Given the description of an element on the screen output the (x, y) to click on. 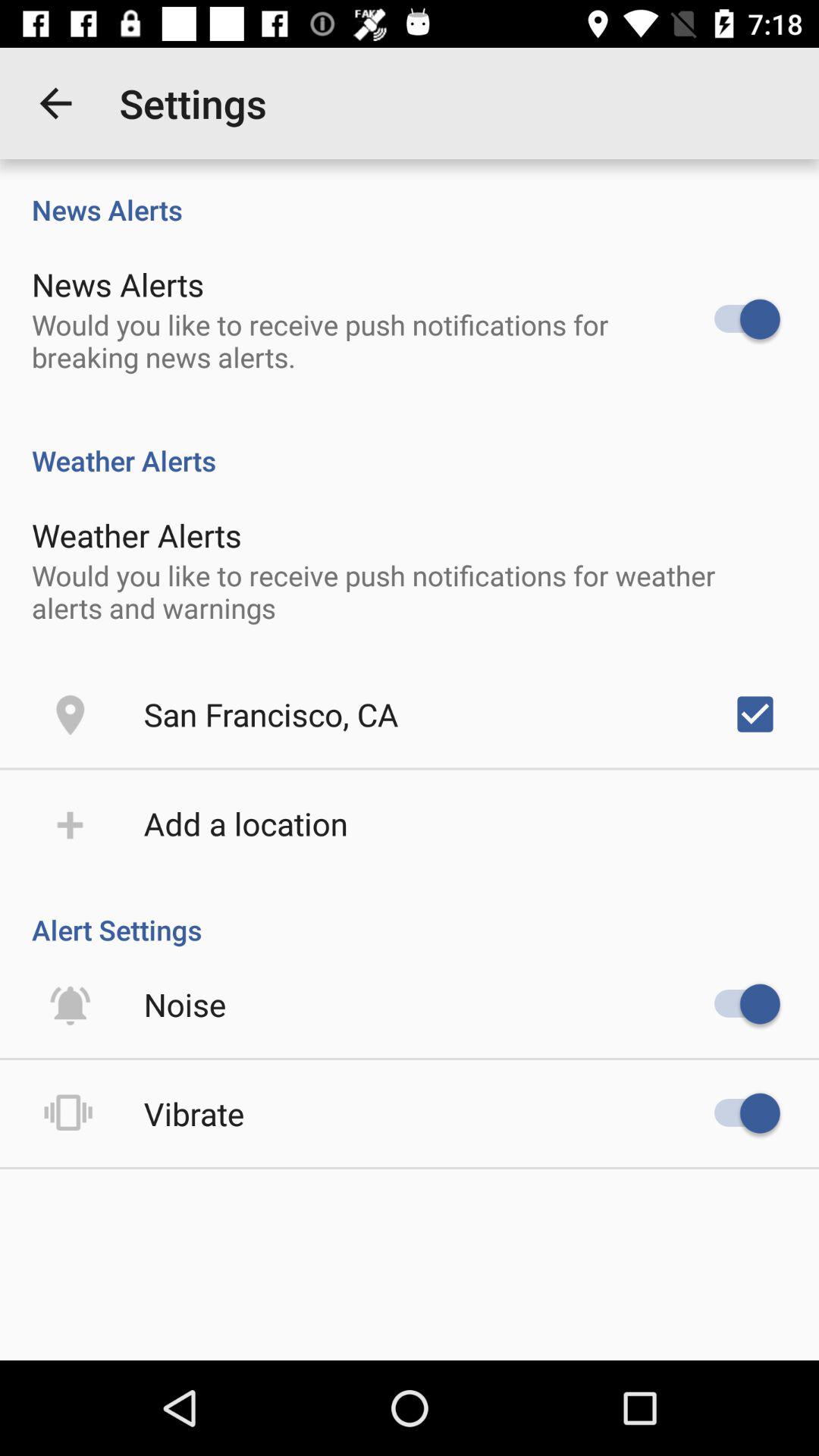
turn off item below san francisco, ca icon (245, 823)
